Given the description of an element on the screen output the (x, y) to click on. 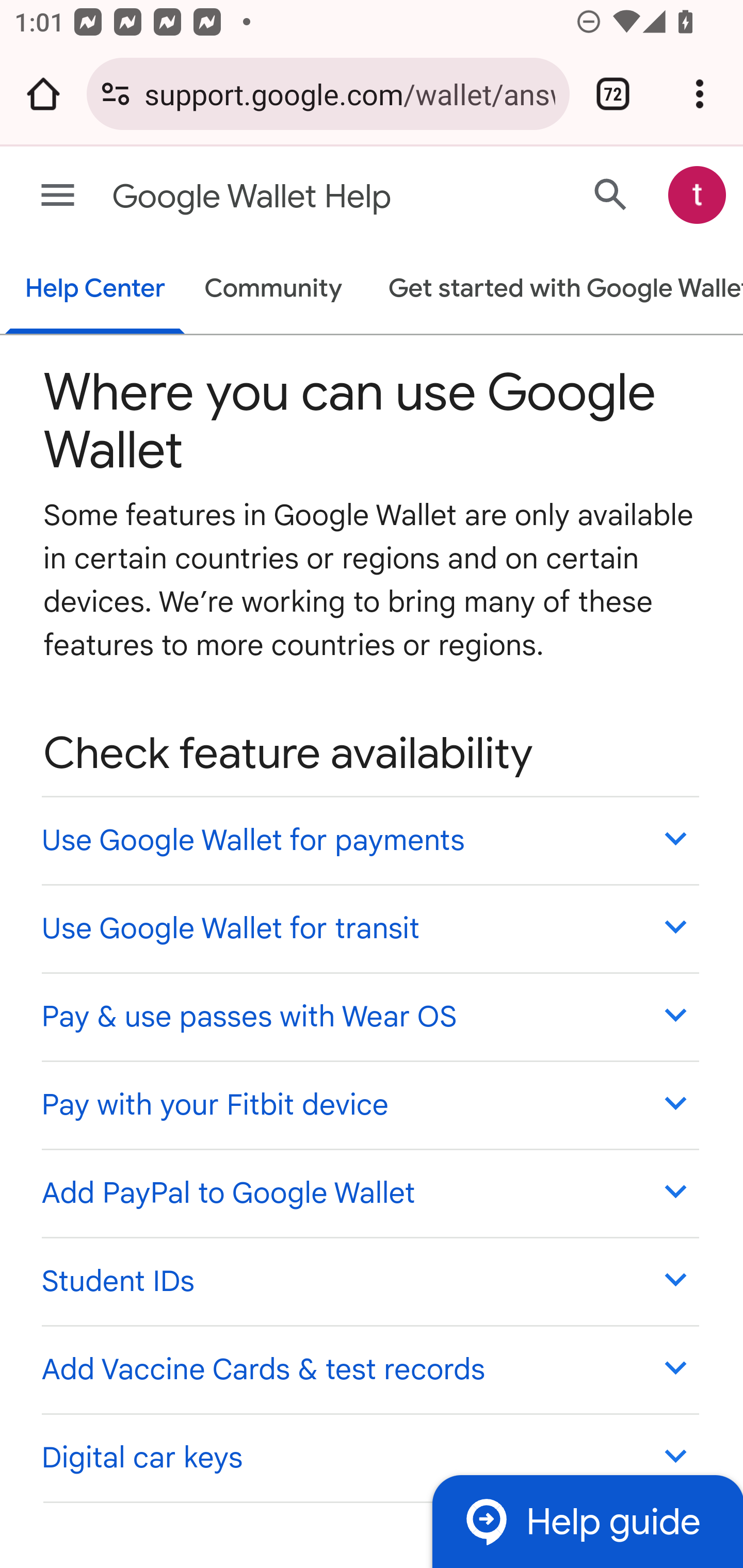
Open the home page (43, 93)
Connection is secure (115, 93)
Switch or close tabs (612, 93)
Customize and control Google Chrome (699, 93)
Main menu (58, 195)
Google Wallet Help (292, 197)
Search Help Center (611, 194)
Help Center (94, 289)
Community (273, 289)
Get started with Google Wallet (555, 289)
Use Google Wallet for payments (369, 839)
Use Google Wallet for transit (369, 927)
Pay & use passes with Wear OS (369, 1015)
Pay with your Fitbit device (369, 1104)
Add PayPal to Google Wallet (369, 1192)
Student IDs (369, 1279)
Add Vaccine Cards & test records (369, 1367)
Digital car keys (369, 1456)
Help guide (587, 1520)
